Given the description of an element on the screen output the (x, y) to click on. 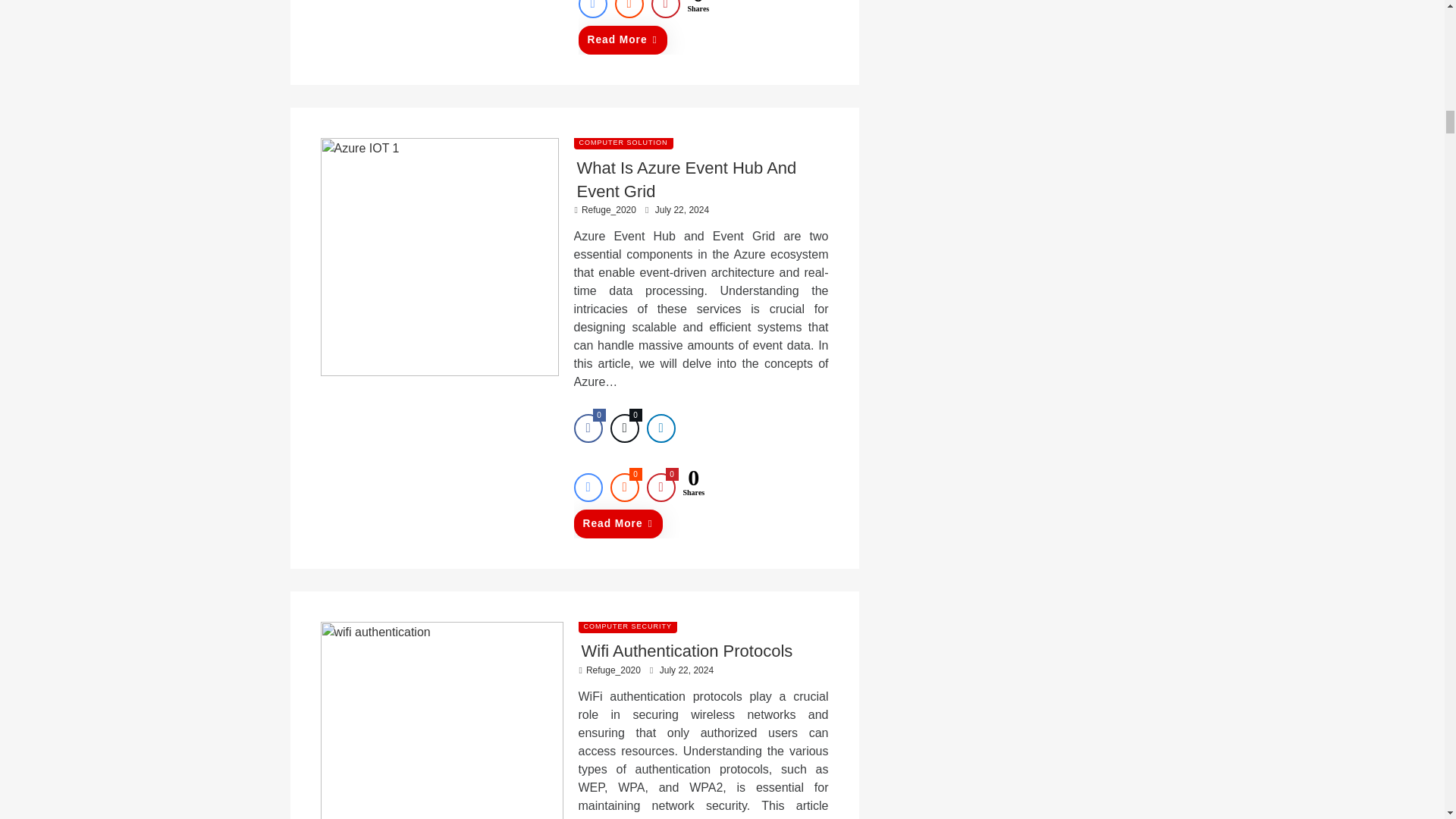
What Is Azure Event Hub And Event Grid 14 (438, 256)
Wifi Authentication Protocols 15 (441, 720)
